Given the description of an element on the screen output the (x, y) to click on. 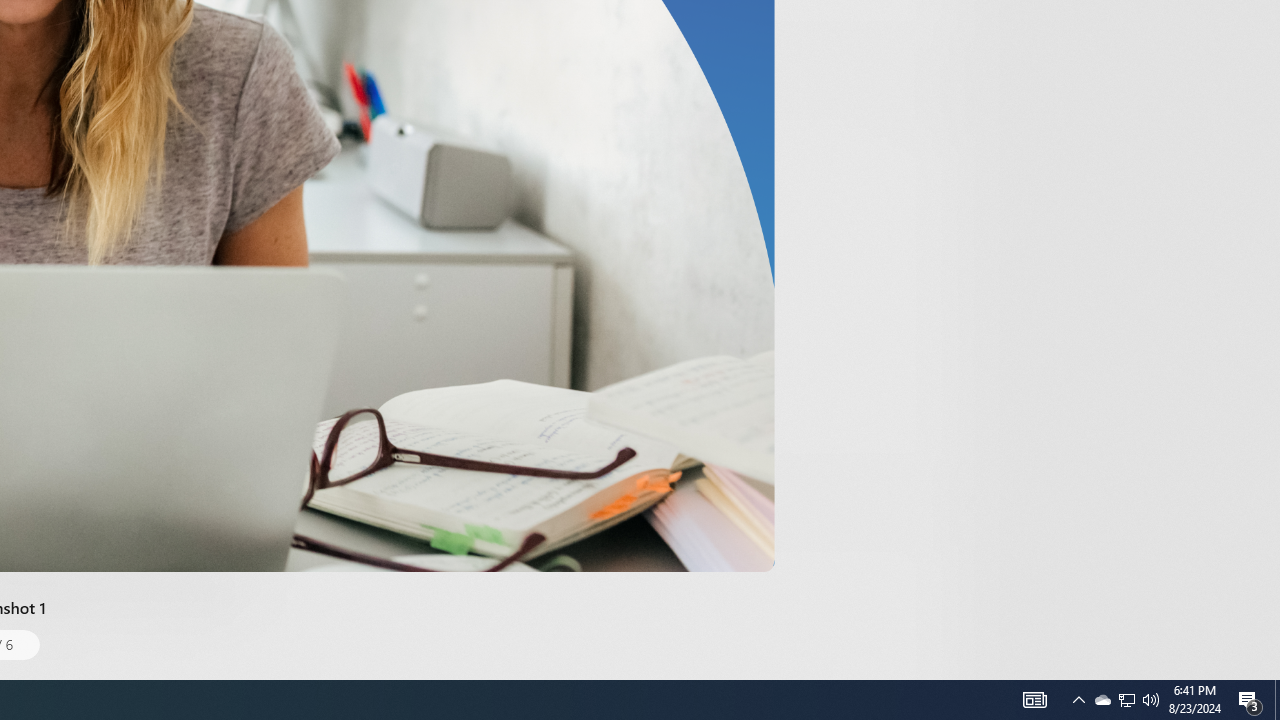
Show all ratings and reviews (924, 97)
